Given the description of an element on the screen output the (x, y) to click on. 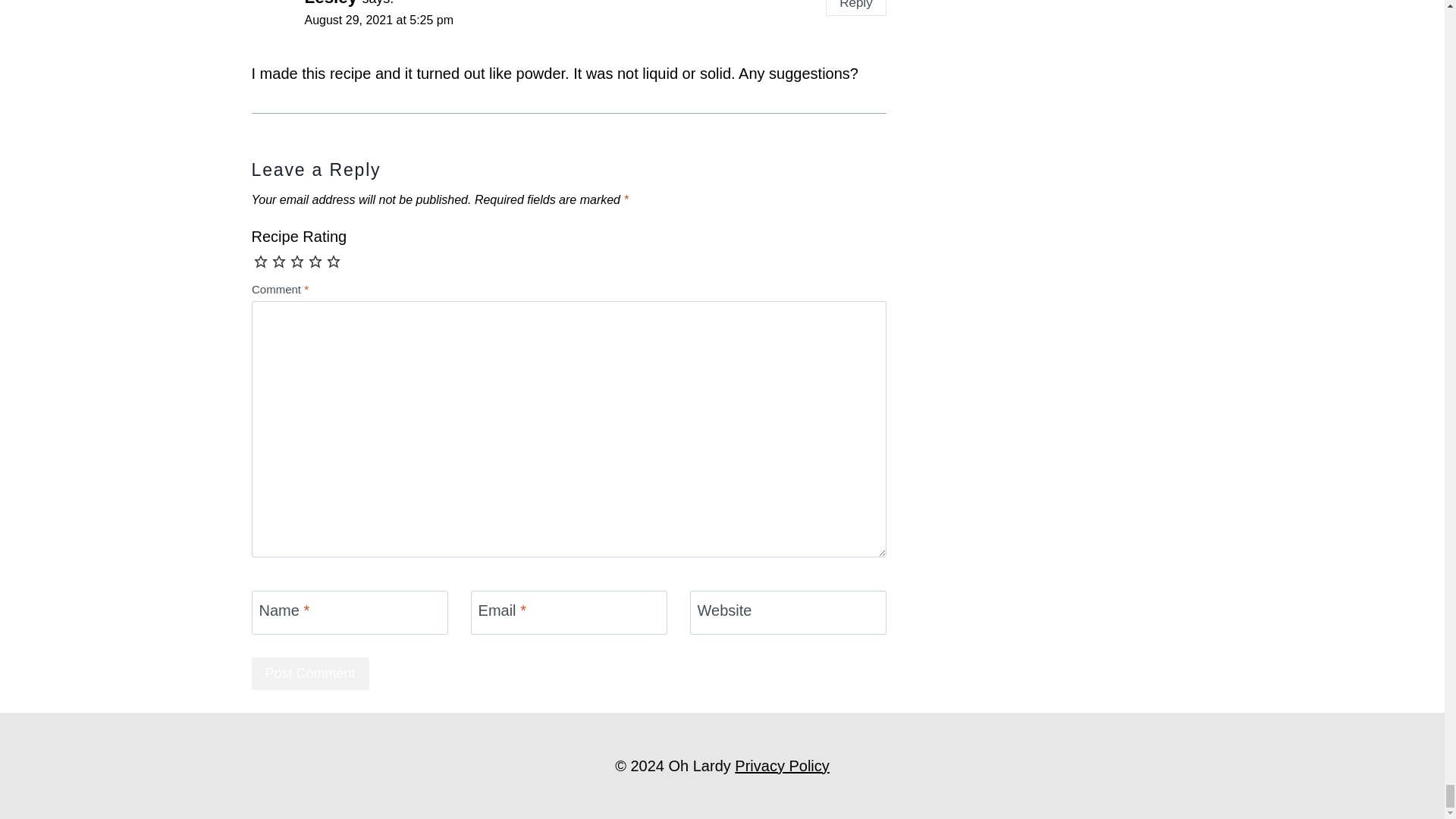
Post Comment (310, 673)
